Given the description of an element on the screen output the (x, y) to click on. 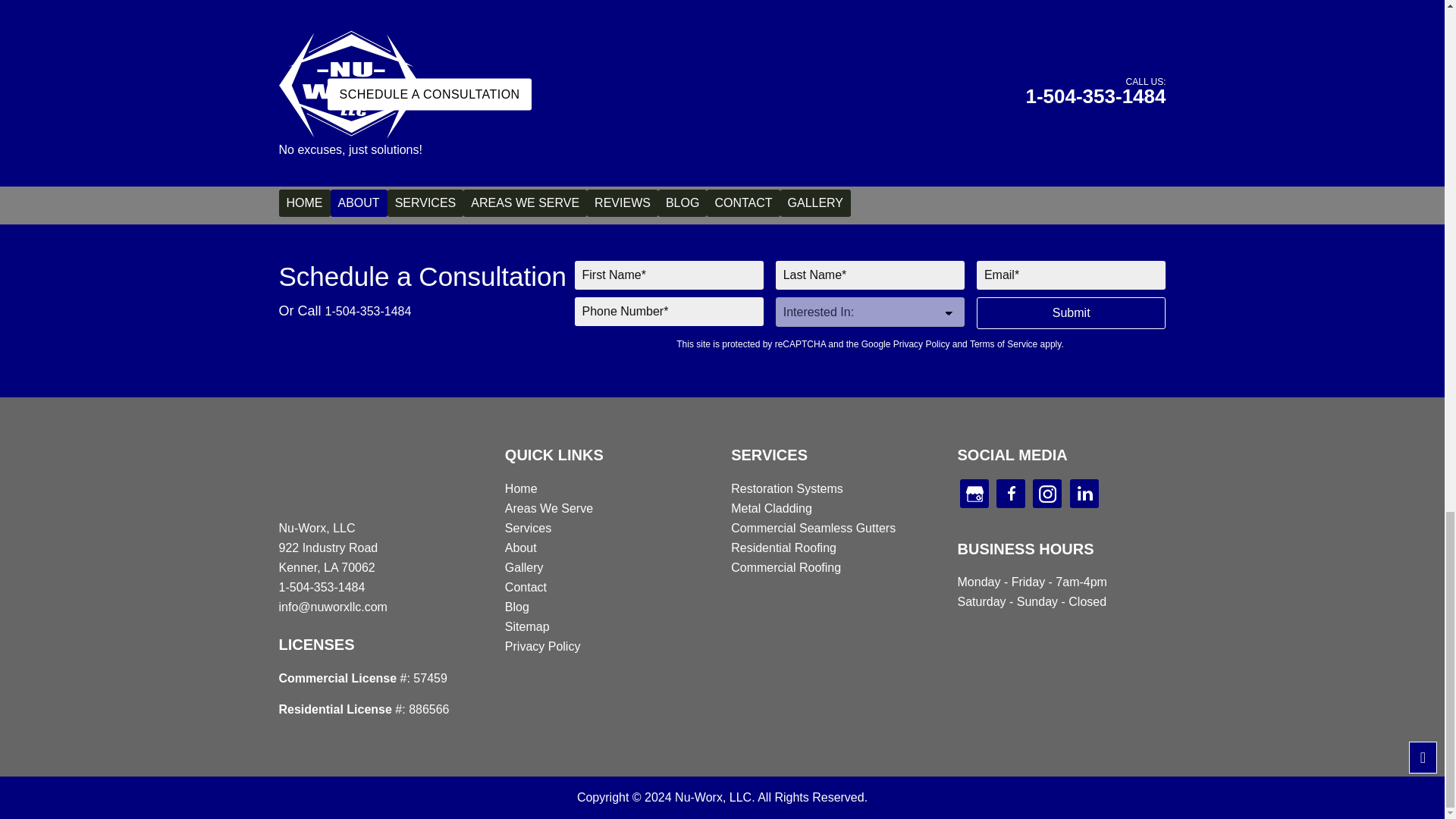
LinkedIn (1084, 493)
Submit (1071, 313)
Facebook (1010, 493)
Google Business Profile (973, 493)
Instagram (1046, 493)
Nu-Worx LLC (311, 474)
